Given the description of an element on the screen output the (x, y) to click on. 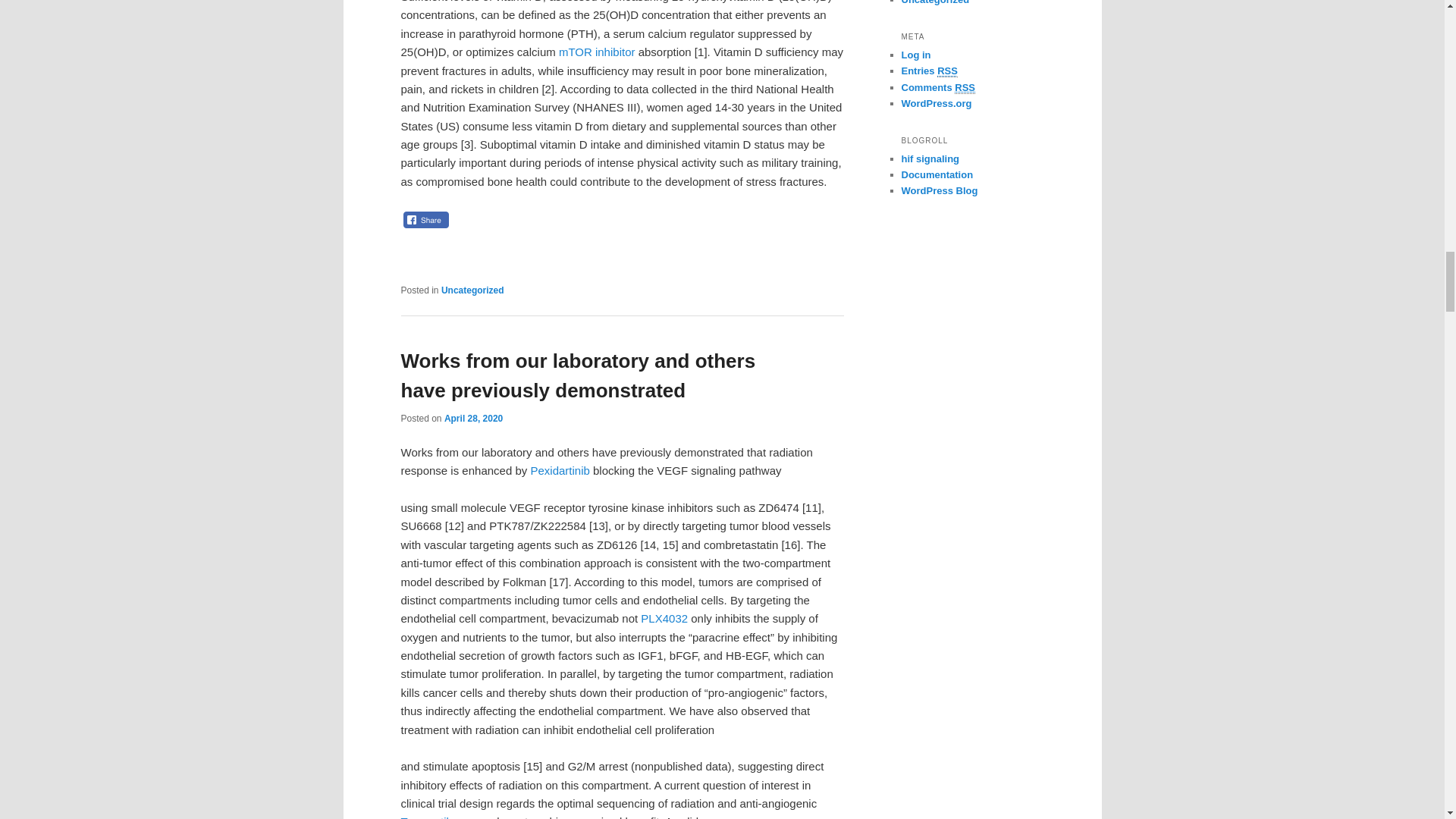
April 28, 2020 (473, 418)
Uncategorized (472, 290)
mTOR inhibitor (596, 51)
View all posts in Uncategorized (472, 290)
